Given the description of an element on the screen output the (x, y) to click on. 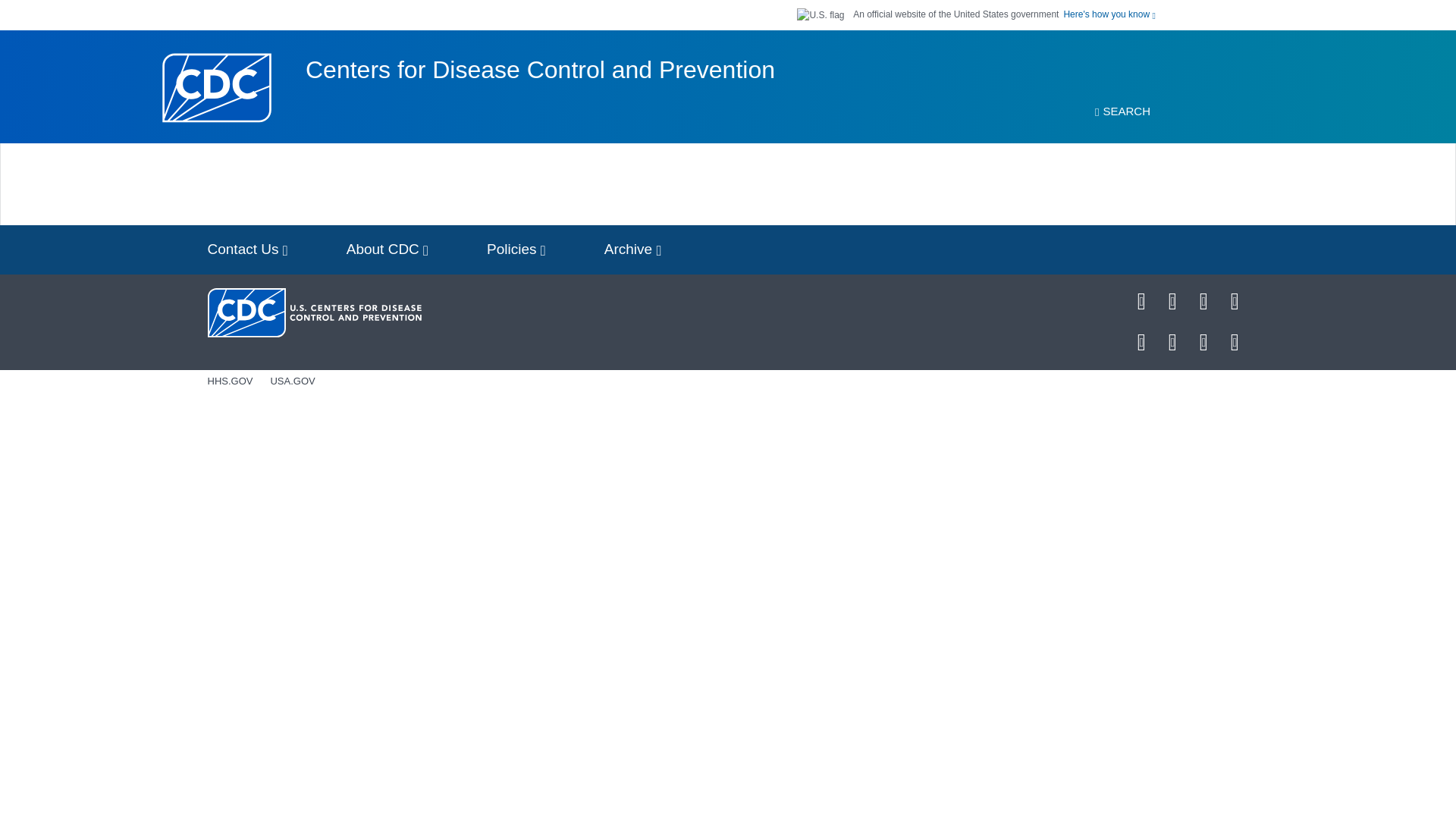
Archive (633, 249)
Contact Us (247, 249)
Policies (516, 249)
SEARCH (1122, 111)
Centers for Disease Control and Prevention (539, 69)
About CDC (387, 249)
Here's how you know (1108, 14)
